Given the description of an element on the screen output the (x, y) to click on. 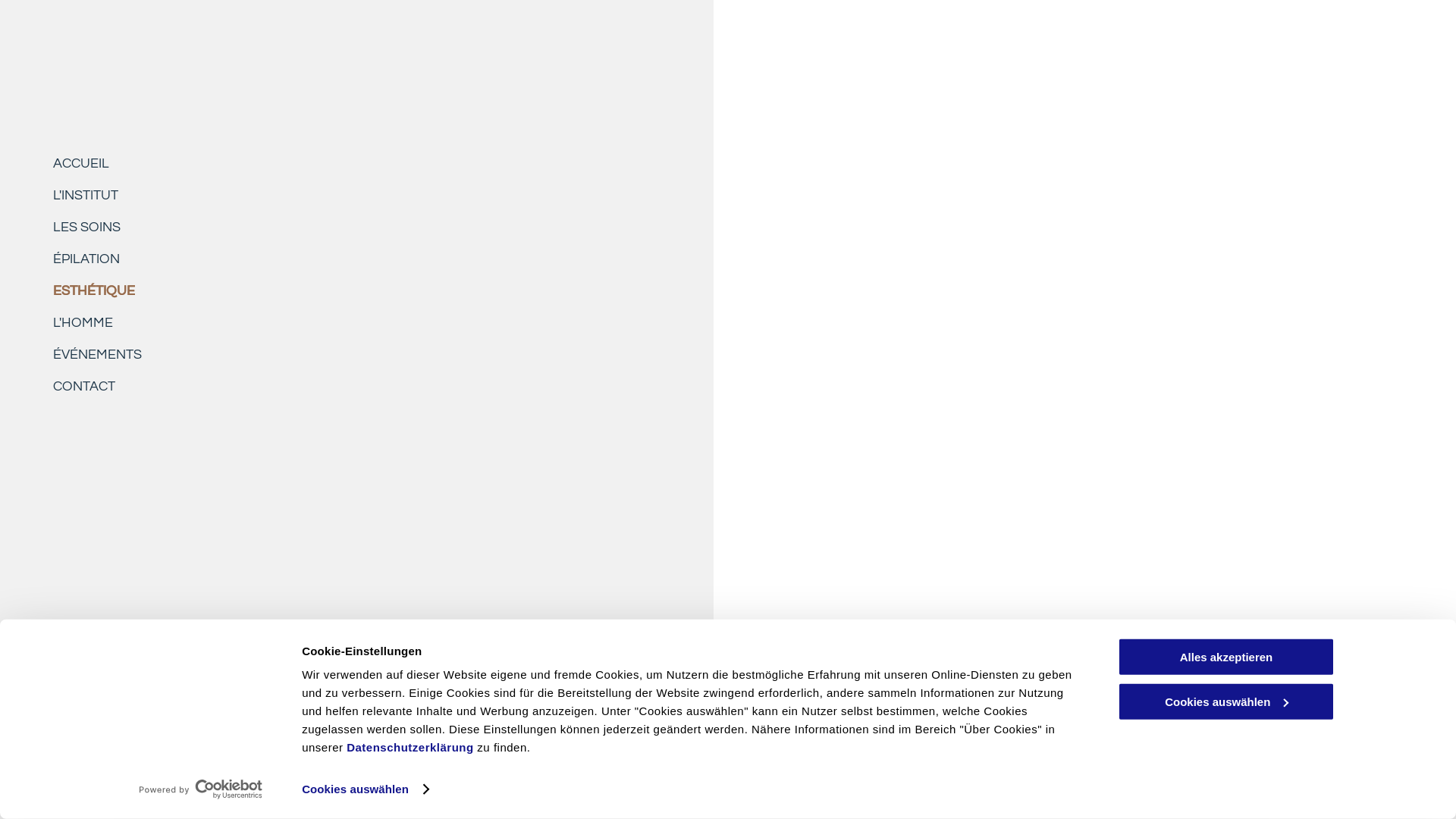
LES SOINS Element type: text (398, 222)
L'HOMME Element type: text (398, 317)
L'INSTITUT Element type: text (398, 190)
ACCUEIL Element type: text (398, 158)
Alles akzeptieren Element type: text (1225, 656)
CONTACT Element type: text (398, 381)
